Given the description of an element on the screen output the (x, y) to click on. 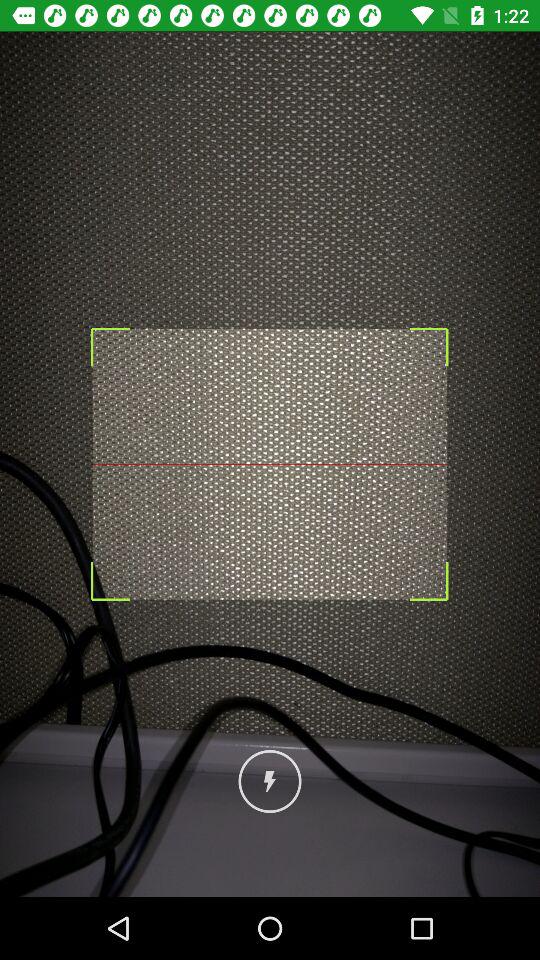
charging (269, 781)
